Given the description of an element on the screen output the (x, y) to click on. 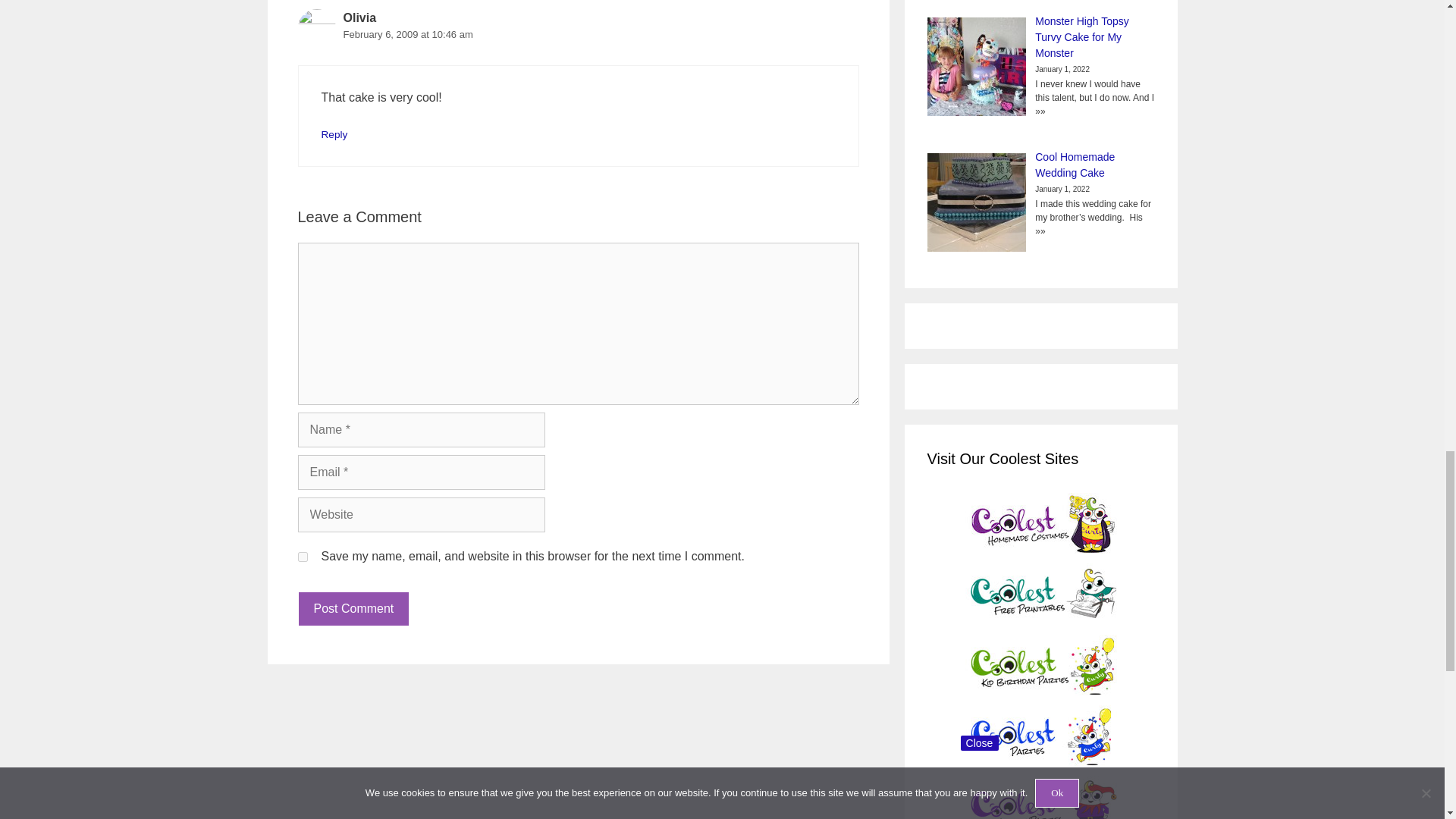
yes (302, 556)
Post Comment (353, 608)
